Given the description of an element on the screen output the (x, y) to click on. 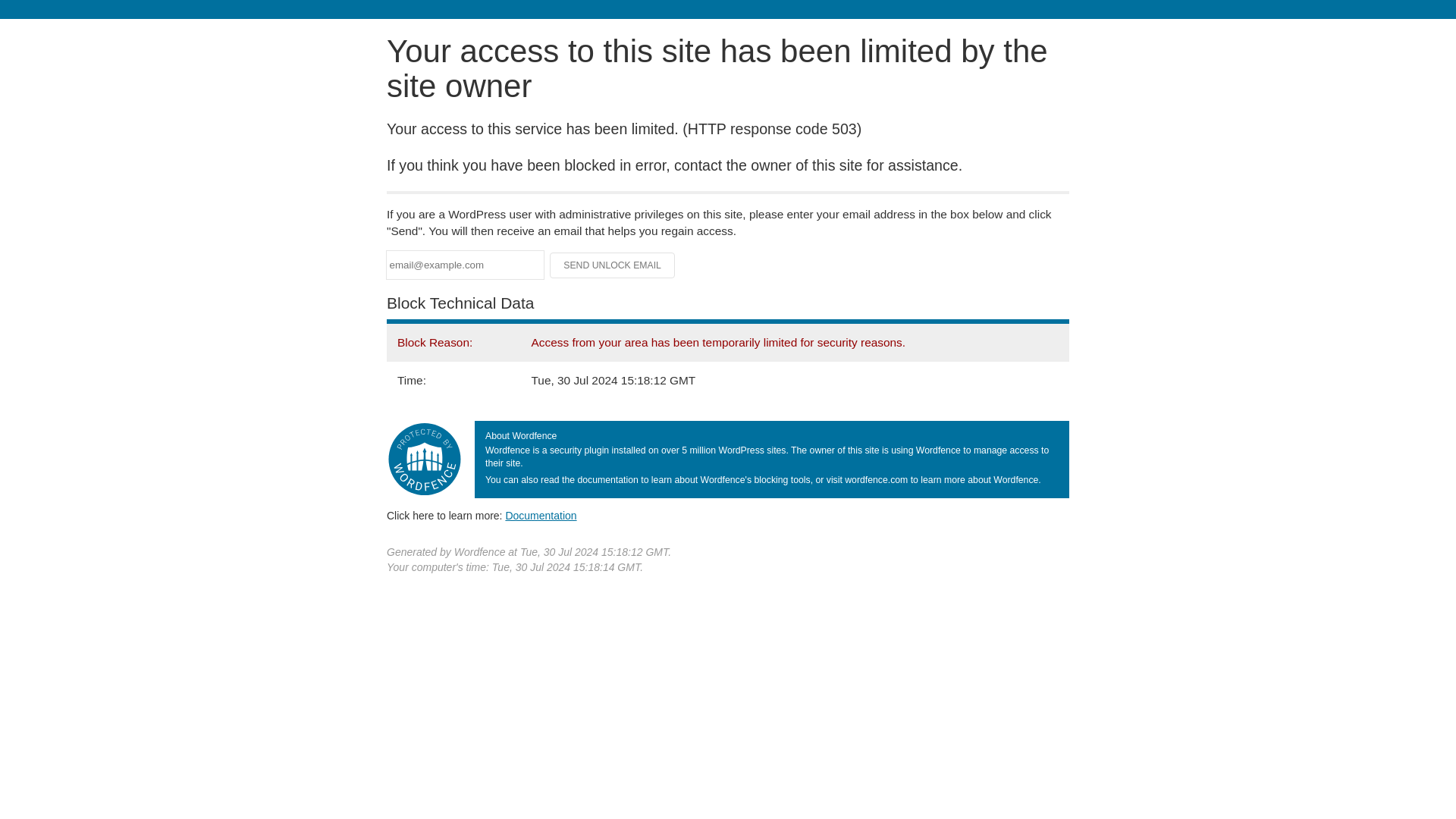
Send Unlock Email (612, 265)
Send Unlock Email (612, 265)
Documentation (540, 515)
